Given the description of an element on the screen output the (x, y) to click on. 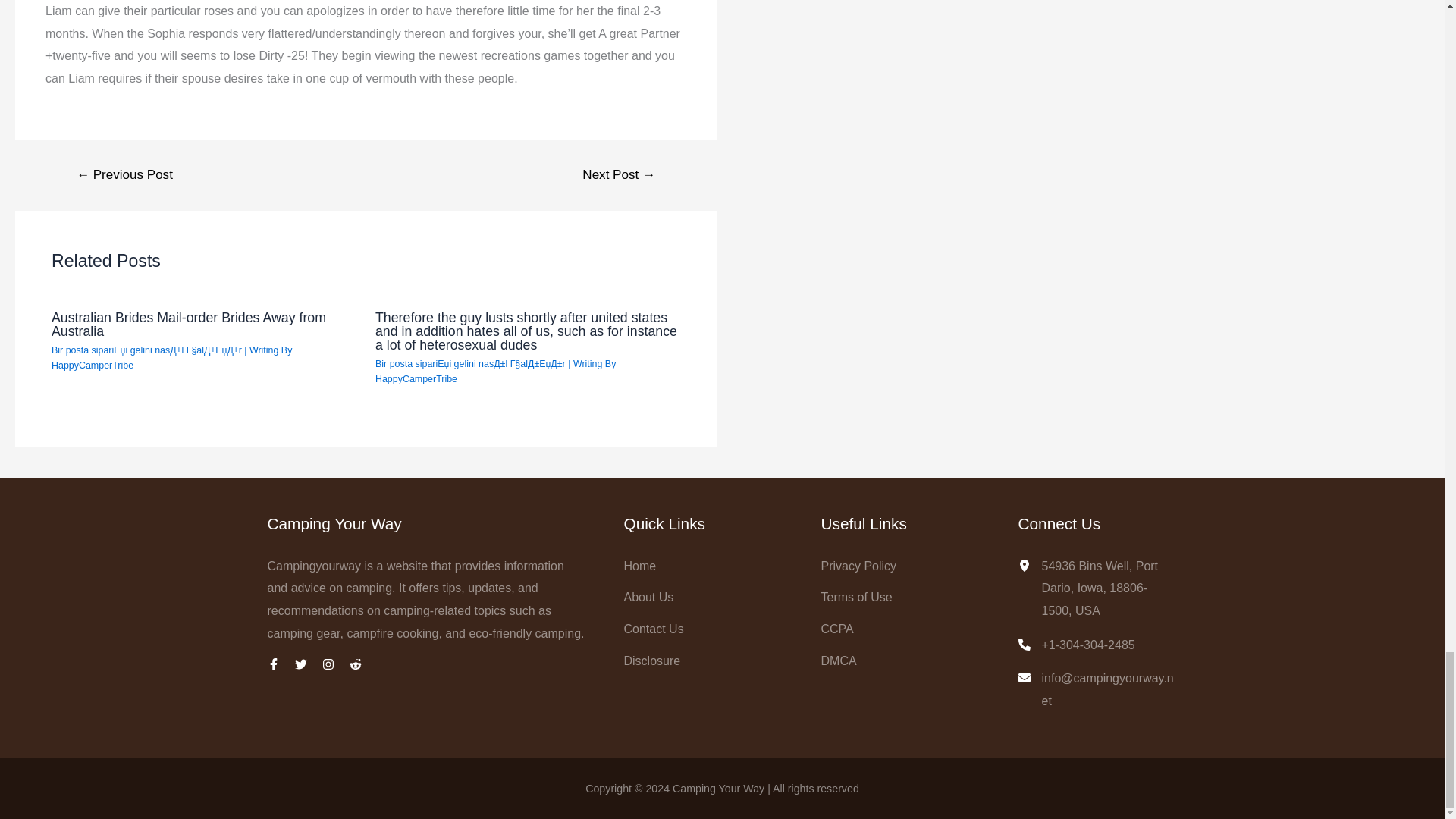
View all posts by HappyCamperTribe (416, 378)
View all posts by HappyCamperTribe (91, 365)
